Given the description of an element on the screen output the (x, y) to click on. 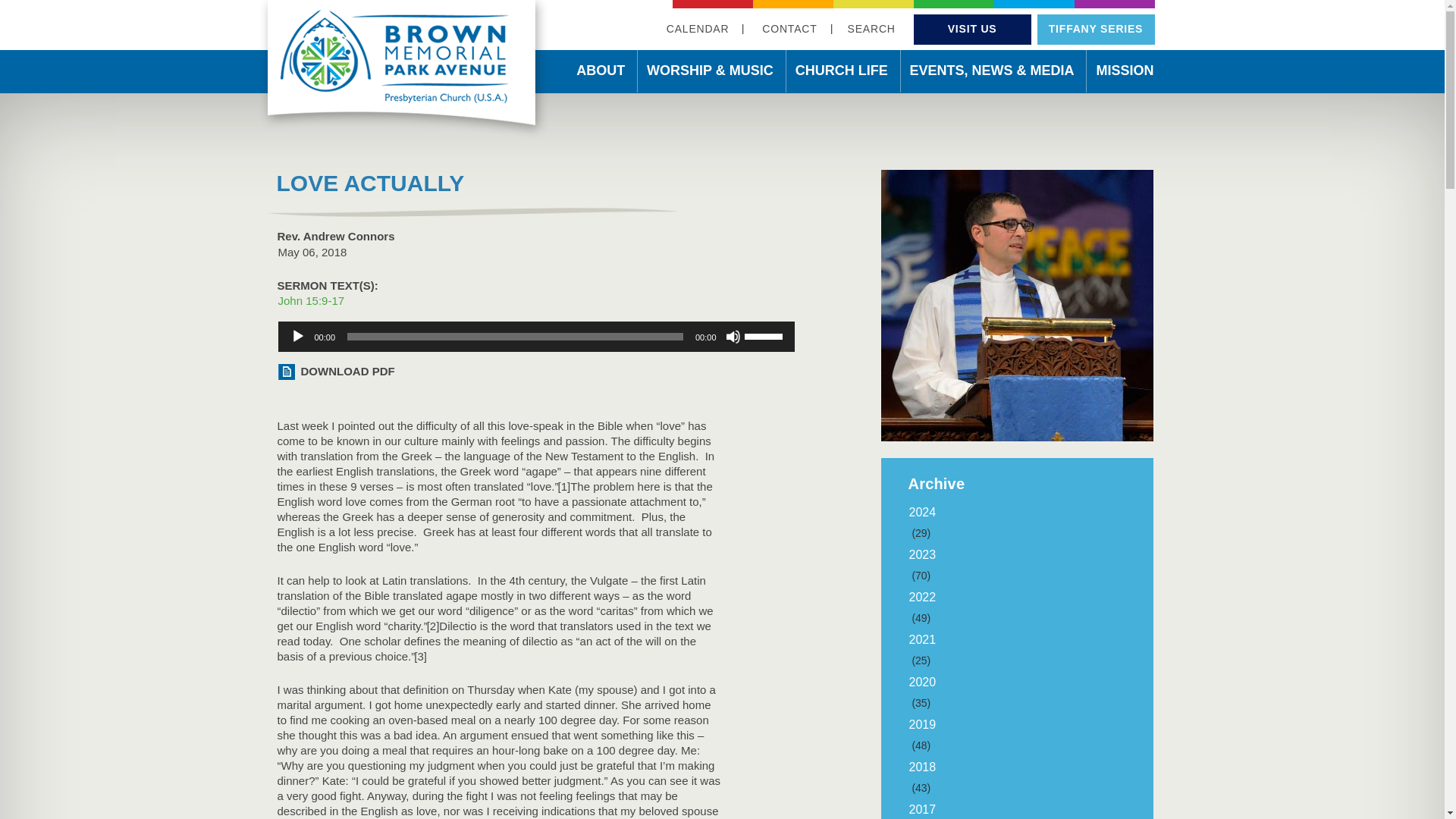
CHURCH LIFE (841, 72)
CALENDAR (697, 28)
SEARCH (871, 28)
TIFFANY SERIES (1095, 28)
CONTACT (788, 28)
Play (296, 336)
Mute (732, 336)
ABOUT (600, 72)
VISIT US (972, 28)
